Given the description of an element on the screen output the (x, y) to click on. 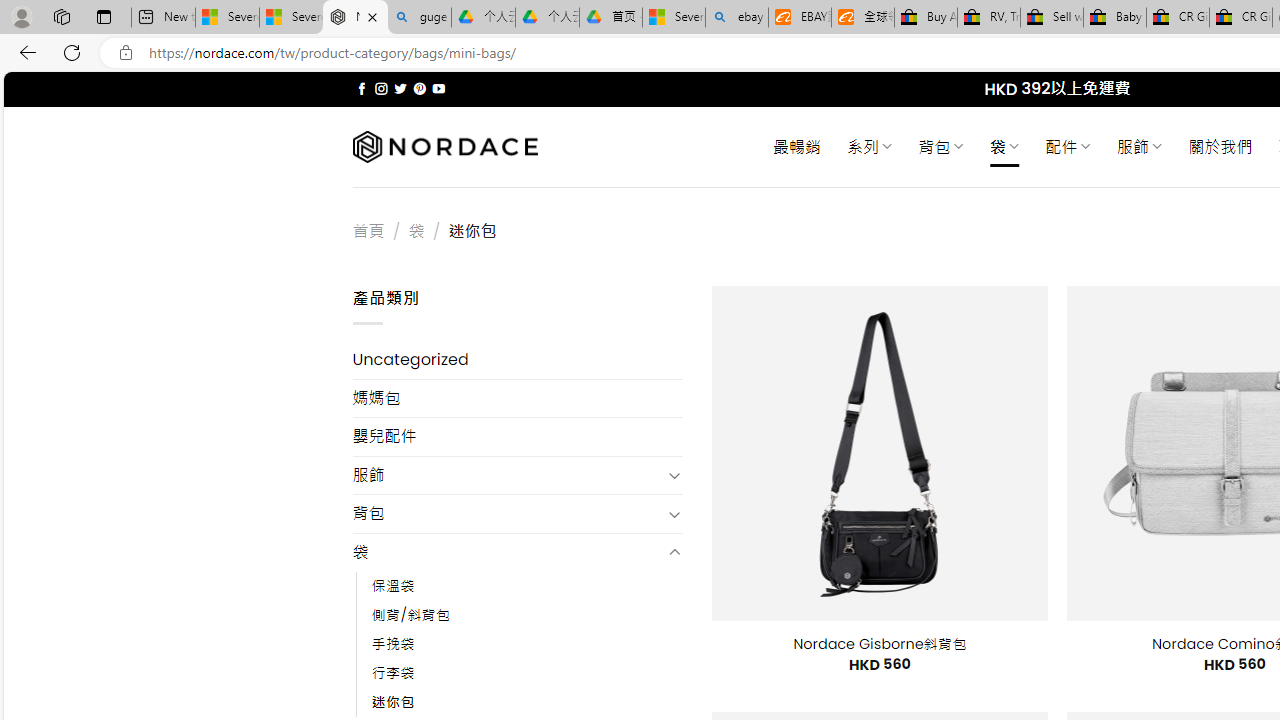
Nordace (444, 147)
Sell worldwide with eBay (1051, 17)
